Given the description of an element on the screen output the (x, y) to click on. 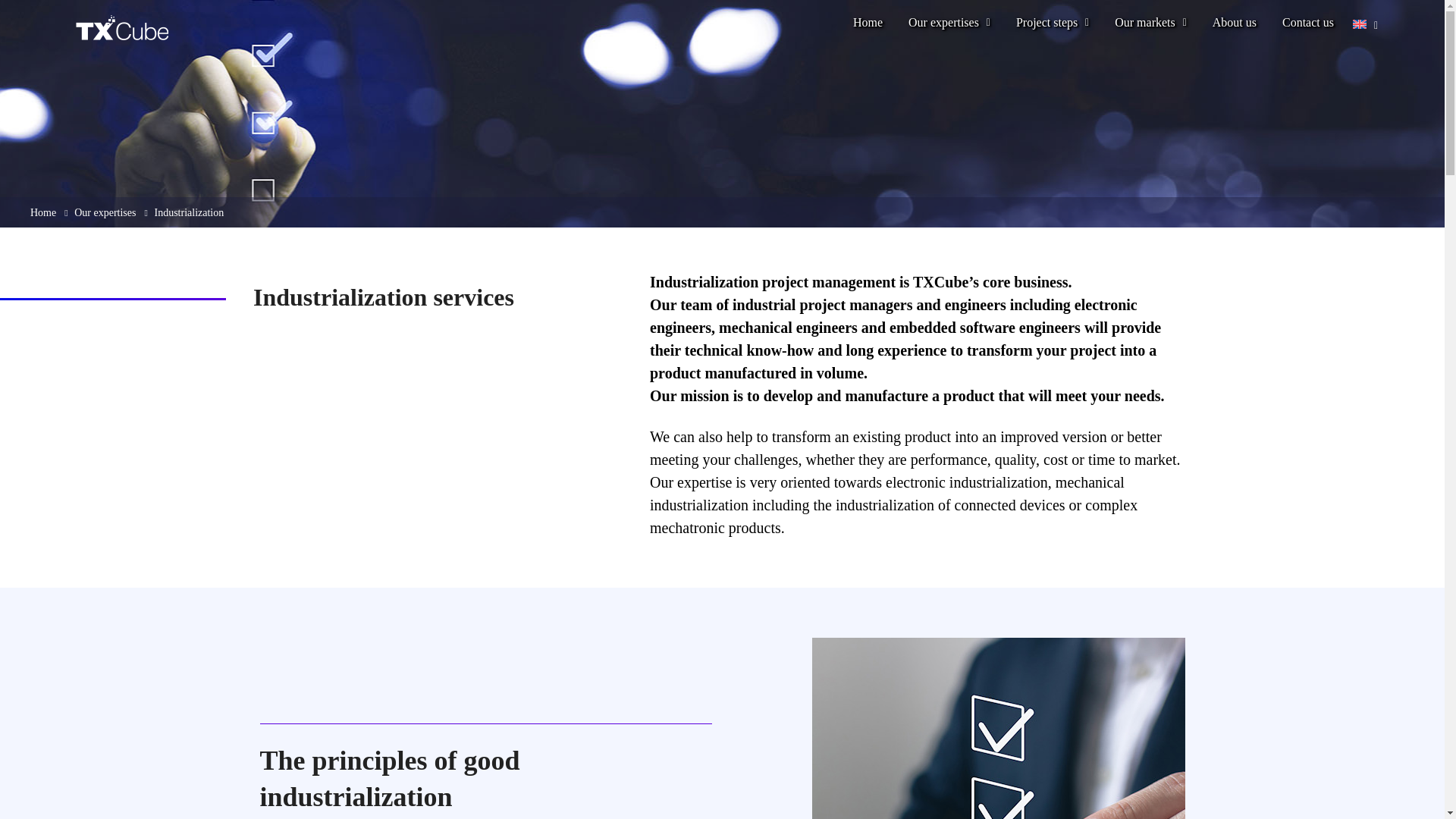
Contact us (1308, 30)
Project steps (1052, 30)
Home (43, 212)
Our expertises (948, 30)
Our markets (1150, 30)
Home (867, 30)
About us (1234, 30)
